Given the description of an element on the screen output the (x, y) to click on. 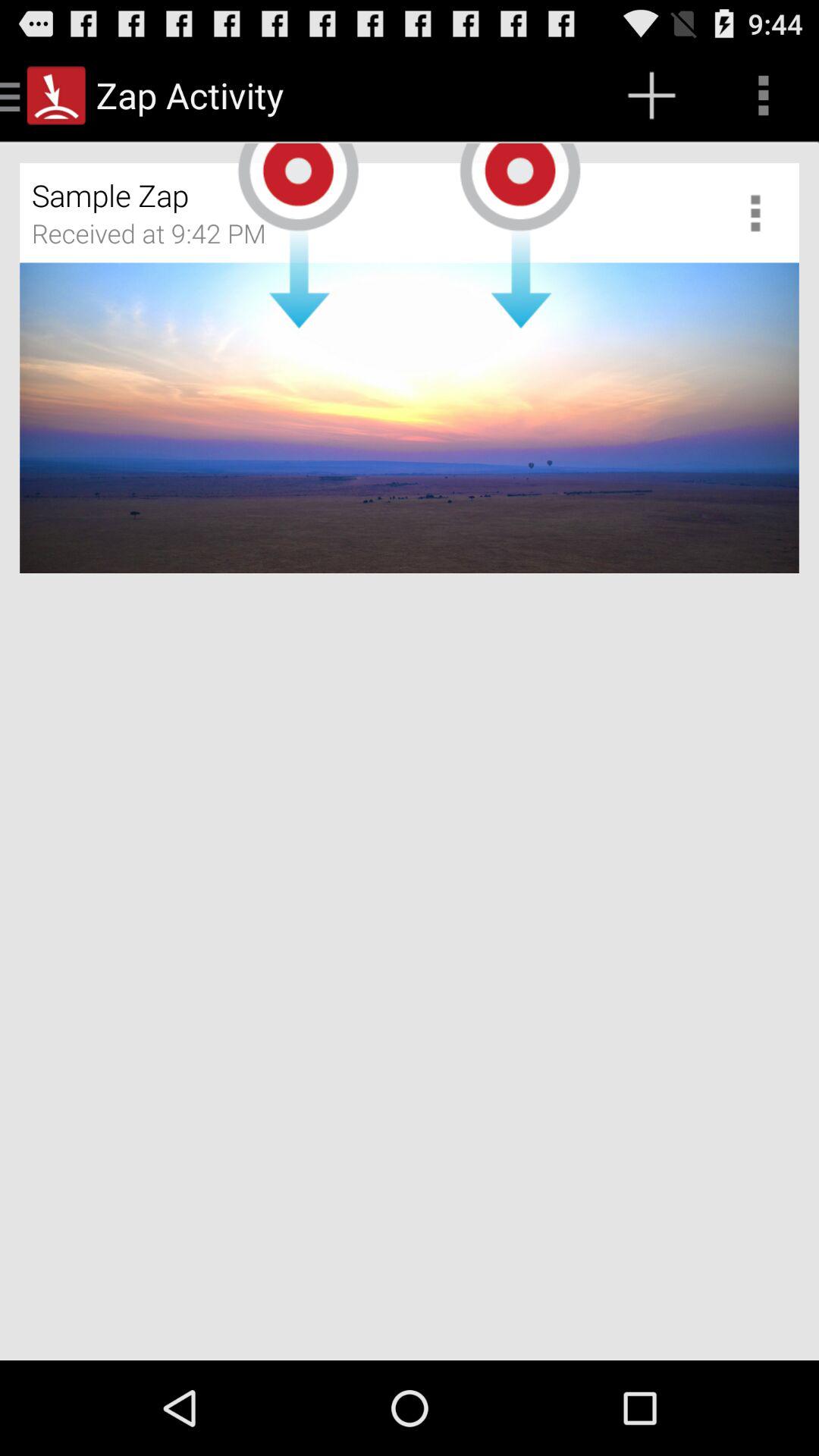
select the icon next to the sample zap app (761, 212)
